Given the description of an element on the screen output the (x, y) to click on. 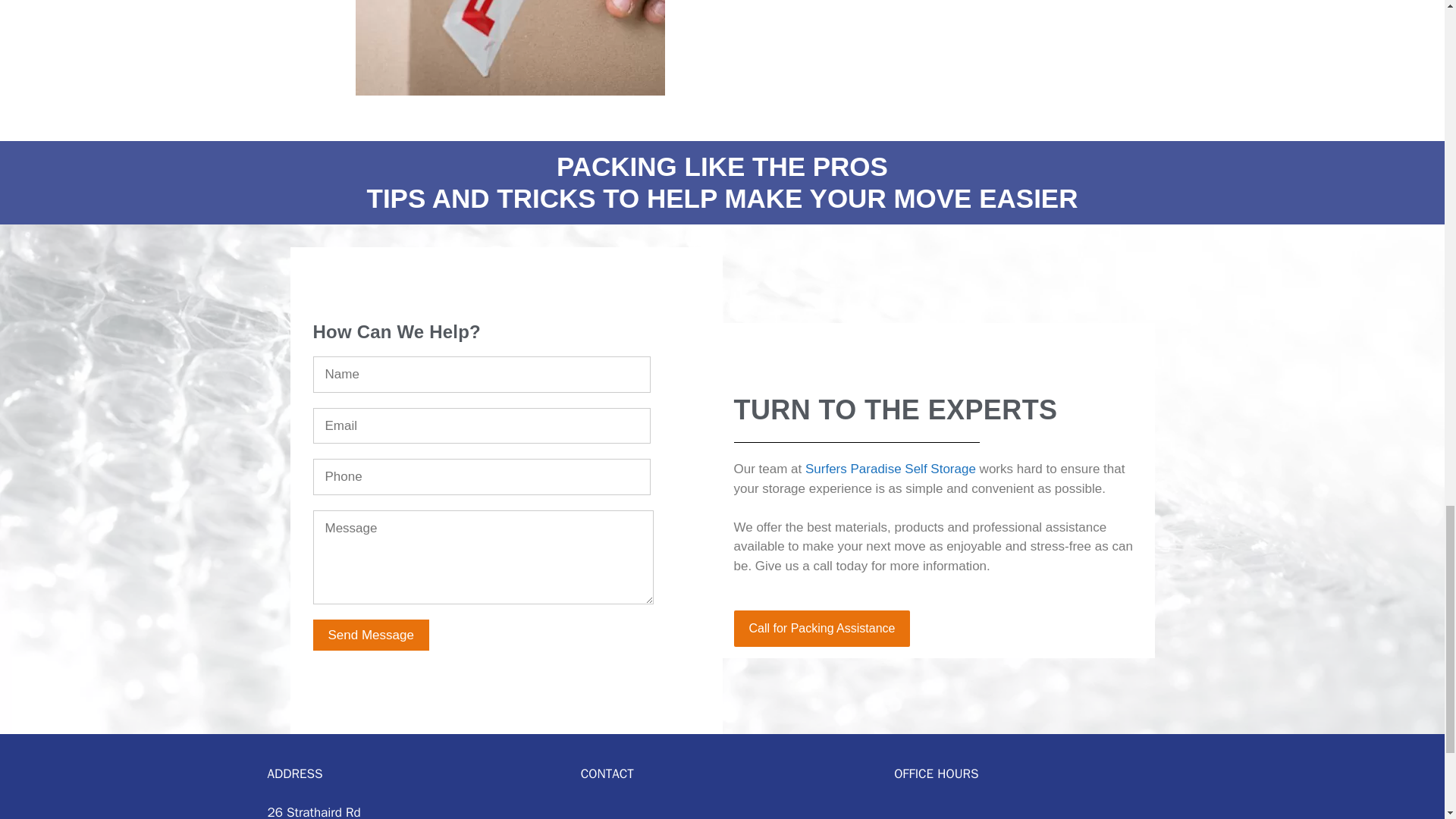
Send Message (370, 634)
Surfers Paradise Self Storage (890, 468)
Send Message (370, 634)
Call for Packing Assistance (822, 628)
